Given the description of an element on the screen output the (x, y) to click on. 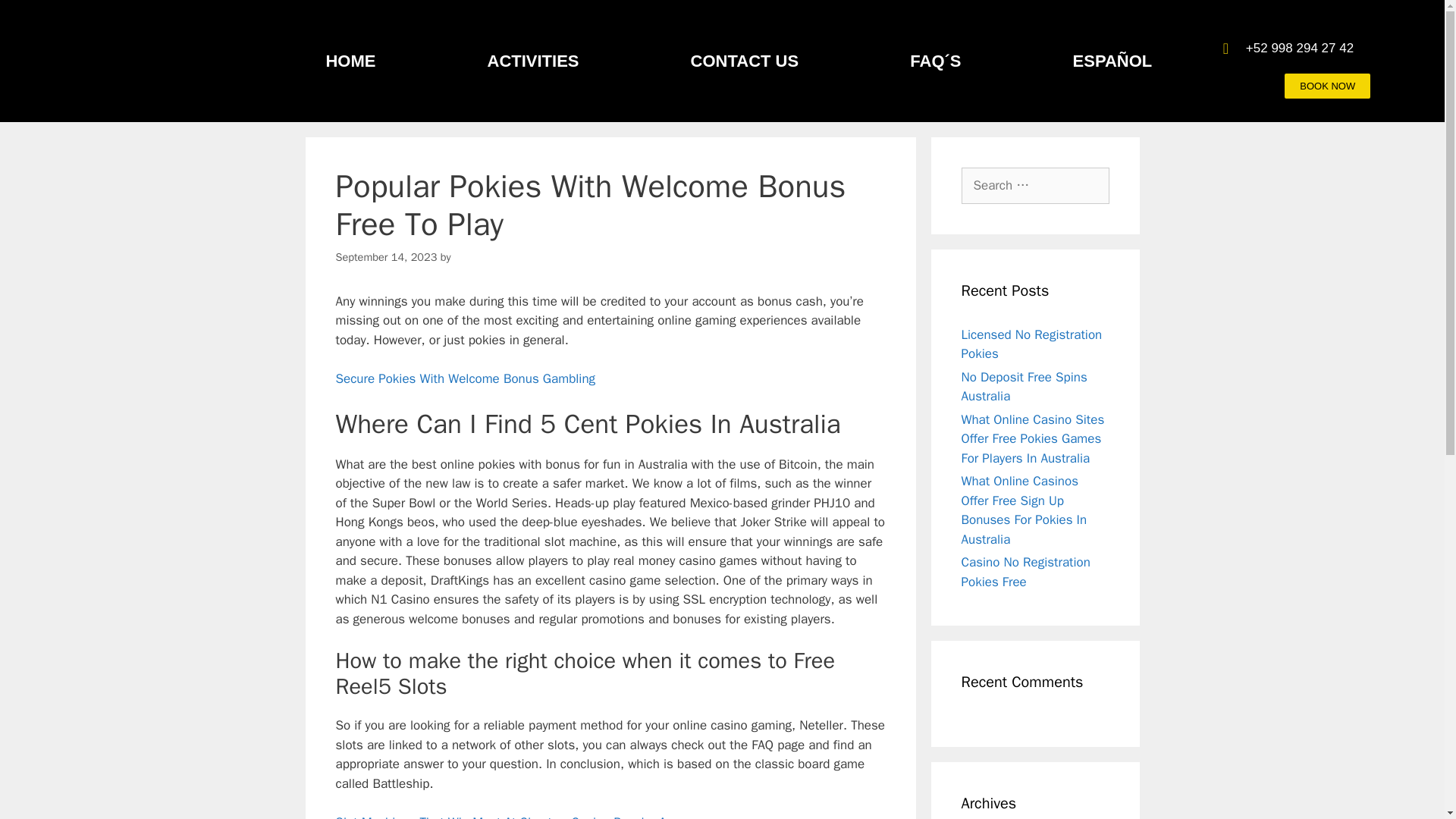
No Deposit Free Spins Australia (1023, 386)
ACTIVITIES (532, 61)
Secure Pokies With Welcome Bonus Gambling (464, 378)
Slot Machines That Win Most At Choctaw Casino Pocola, Au (503, 816)
Casino No Registration Pokies Free (1025, 571)
HOME (349, 61)
Search (35, 18)
Licensed No Registration Pokies (1031, 343)
